Given the description of an element on the screen output the (x, y) to click on. 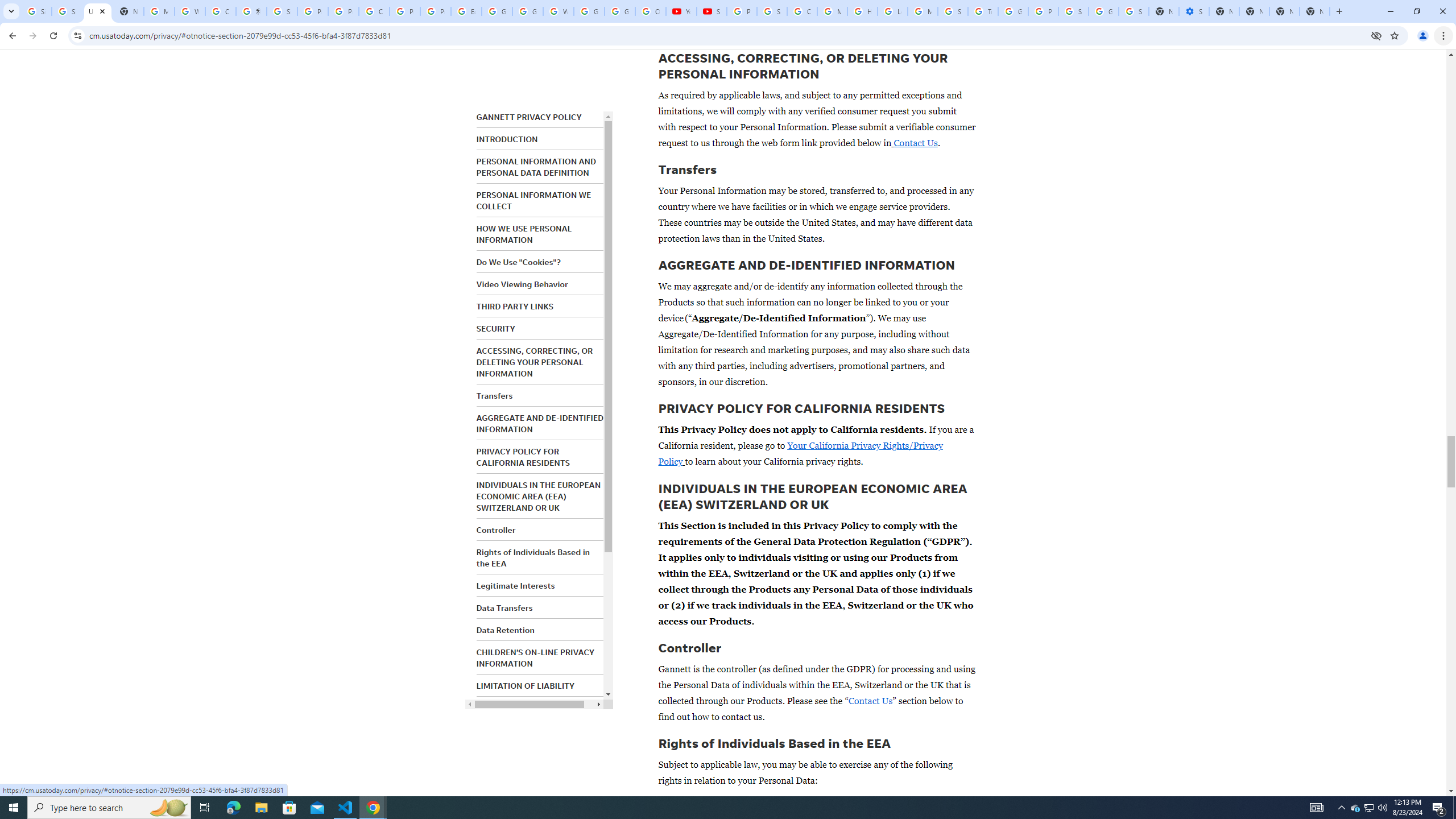
Search our Doodle Library Collection - Google Doodles (952, 11)
PRIVACY POLICY FOR CALIFORNIA RESIDENTS (522, 457)
Contact Us (869, 700)
Sign in - Google Accounts (282, 11)
Legitimate Interests (515, 585)
Subscriptions - YouTube (711, 11)
